Given the description of an element on the screen output the (x, y) to click on. 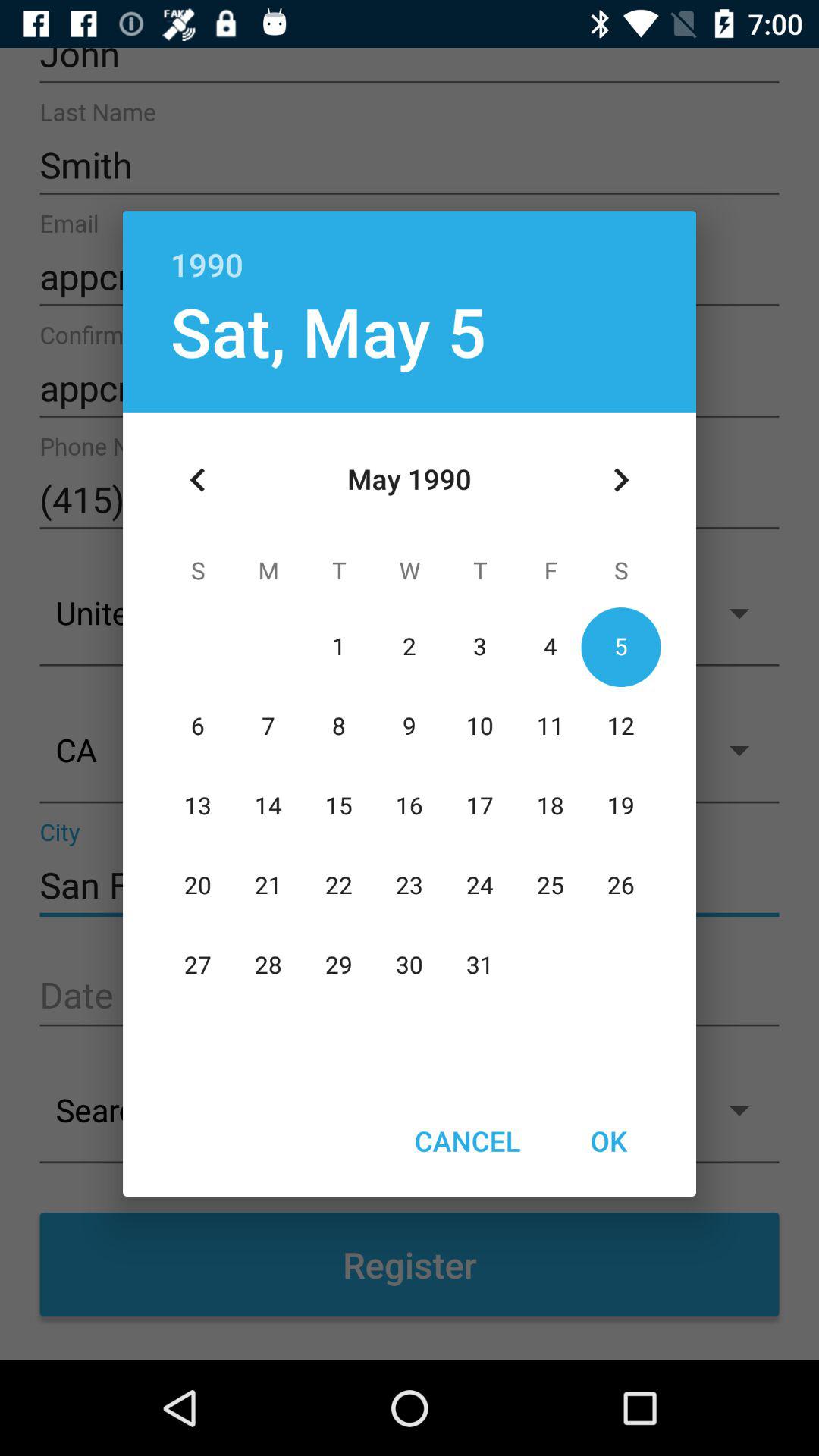
launch the cancel item (467, 1140)
